Given the description of an element on the screen output the (x, y) to click on. 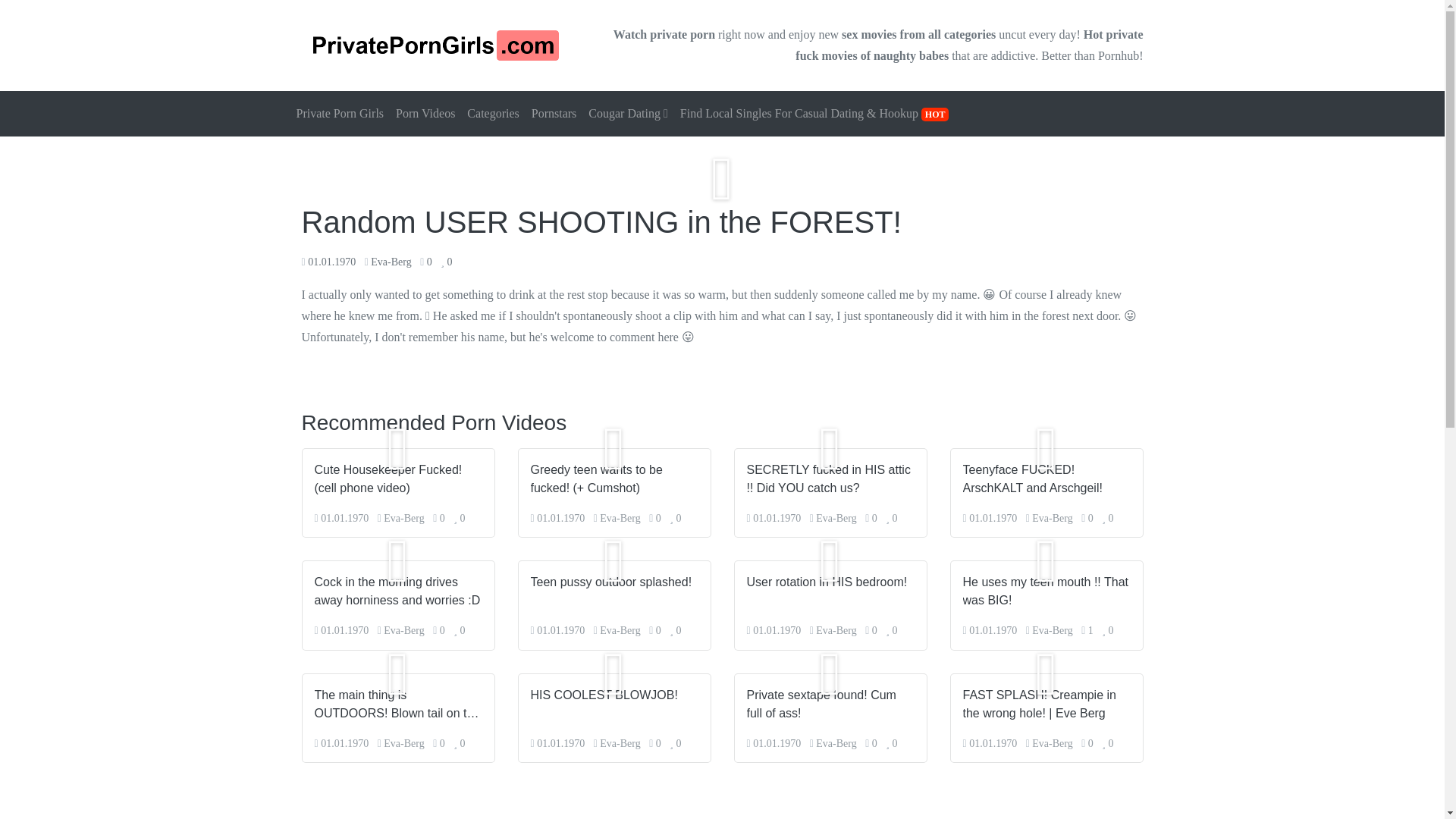
The main thing is OUTDOORS! Blown tail on the BALCONY (397, 703)
Porn Videos (425, 113)
Teenyface FUCKED! ArschKALT and Arschgeil! (1046, 479)
Eva-Berg (403, 742)
Eva-Berg (835, 518)
Eva-Berg (403, 630)
Eva-Berg (390, 261)
Pornstars (554, 113)
Categories (492, 113)
Eva-Berg (1051, 630)
